Given the description of an element on the screen output the (x, y) to click on. 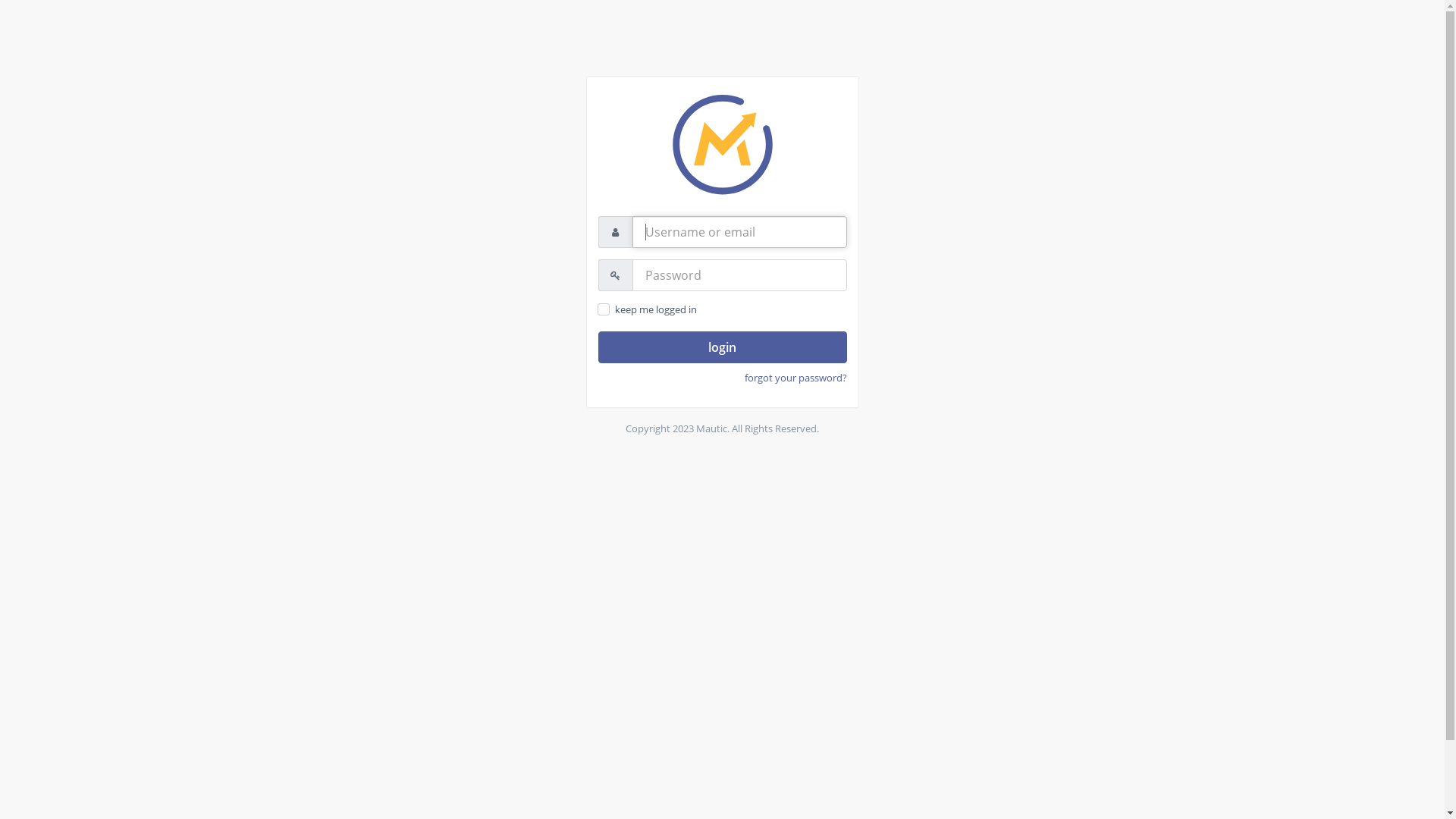
login Element type: text (721, 347)
forgot your password? Element type: text (795, 377)
